Given the description of an element on the screen output the (x, y) to click on. 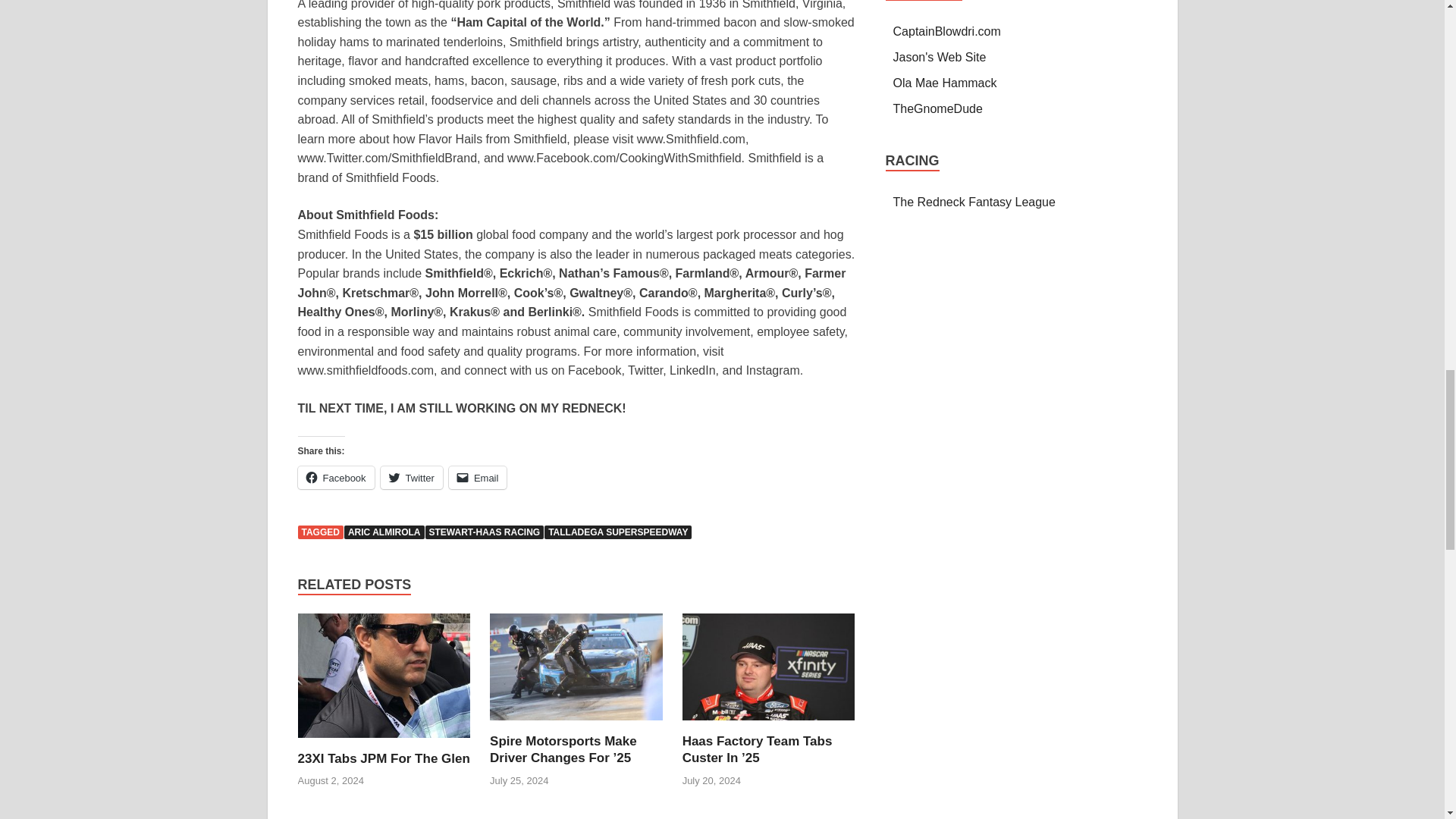
Email (477, 477)
23XI Tabs JPM For The Glen (382, 758)
Click to email a link to a friend (477, 477)
Facebook (335, 477)
Twitter (411, 477)
23XI Tabs JPM For The Glen (382, 758)
STEWART-HAAS RACING (484, 531)
Click to share on Twitter (411, 477)
ARIC ALMIROLA (384, 531)
23XI Tabs JPM For The Glen (383, 680)
